Given the description of an element on the screen output the (x, y) to click on. 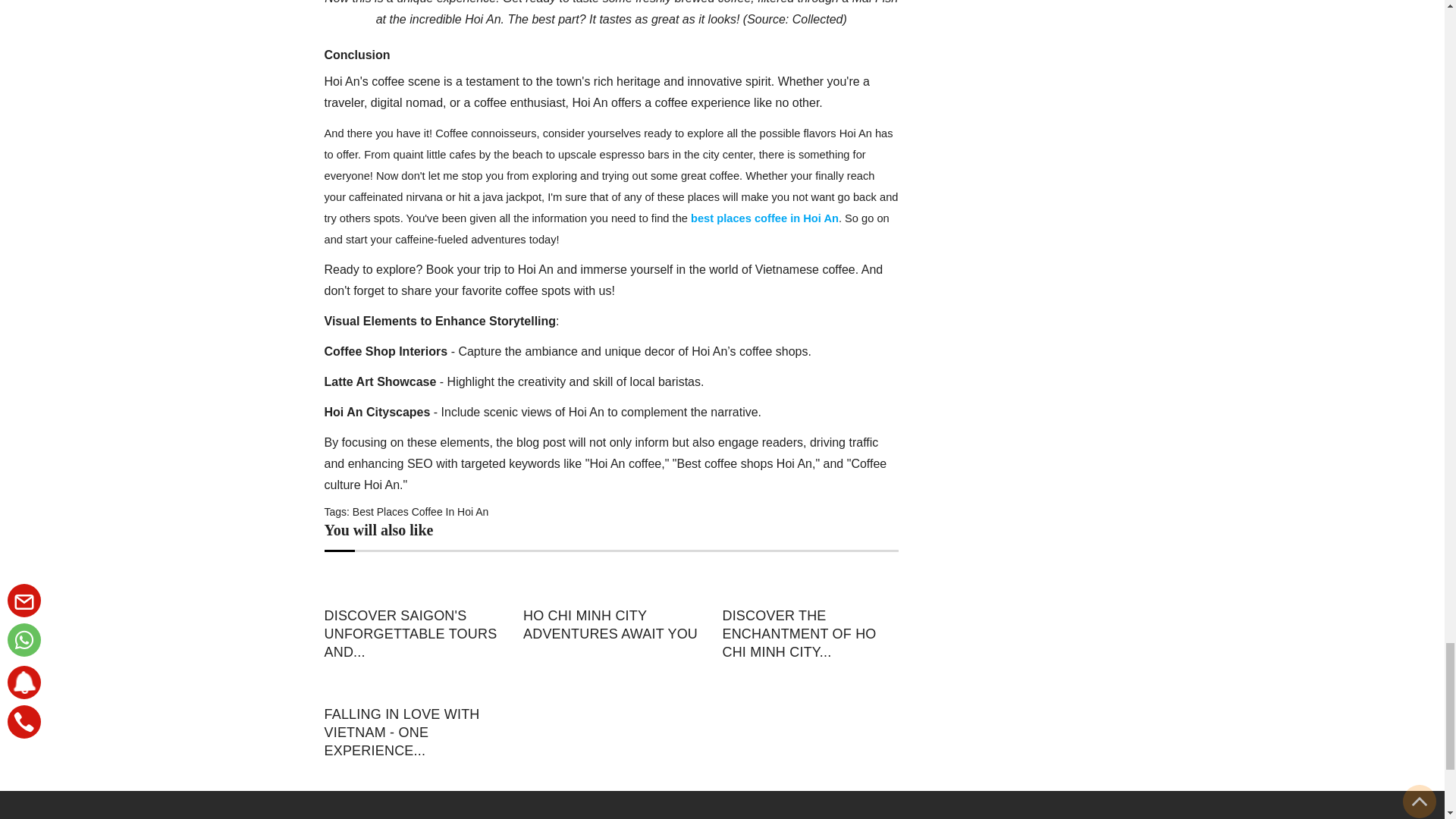
Ho Chi Minh City Adventures Await You (610, 584)
Best Places Coffee In Hoi An (420, 511)
Best Places Coffee In Hoi An (420, 511)
Discover the Enchantment of Ho Chi Minh City Tours (810, 633)
Falling in Love with Vietnam - One Experience at a Time (412, 682)
Discover the Enchantment of Ho Chi Minh City Tours (810, 584)
Falling in Love with Vietnam - One Experience at a Time (412, 732)
Discover Saigon's Unforgettable Tours and Hidden Gems (412, 633)
Discover Saigon's Unforgettable Tours and Hidden Gems (412, 584)
Ho Chi Minh City Adventures Await You (610, 624)
